Given the description of an element on the screen output the (x, y) to click on. 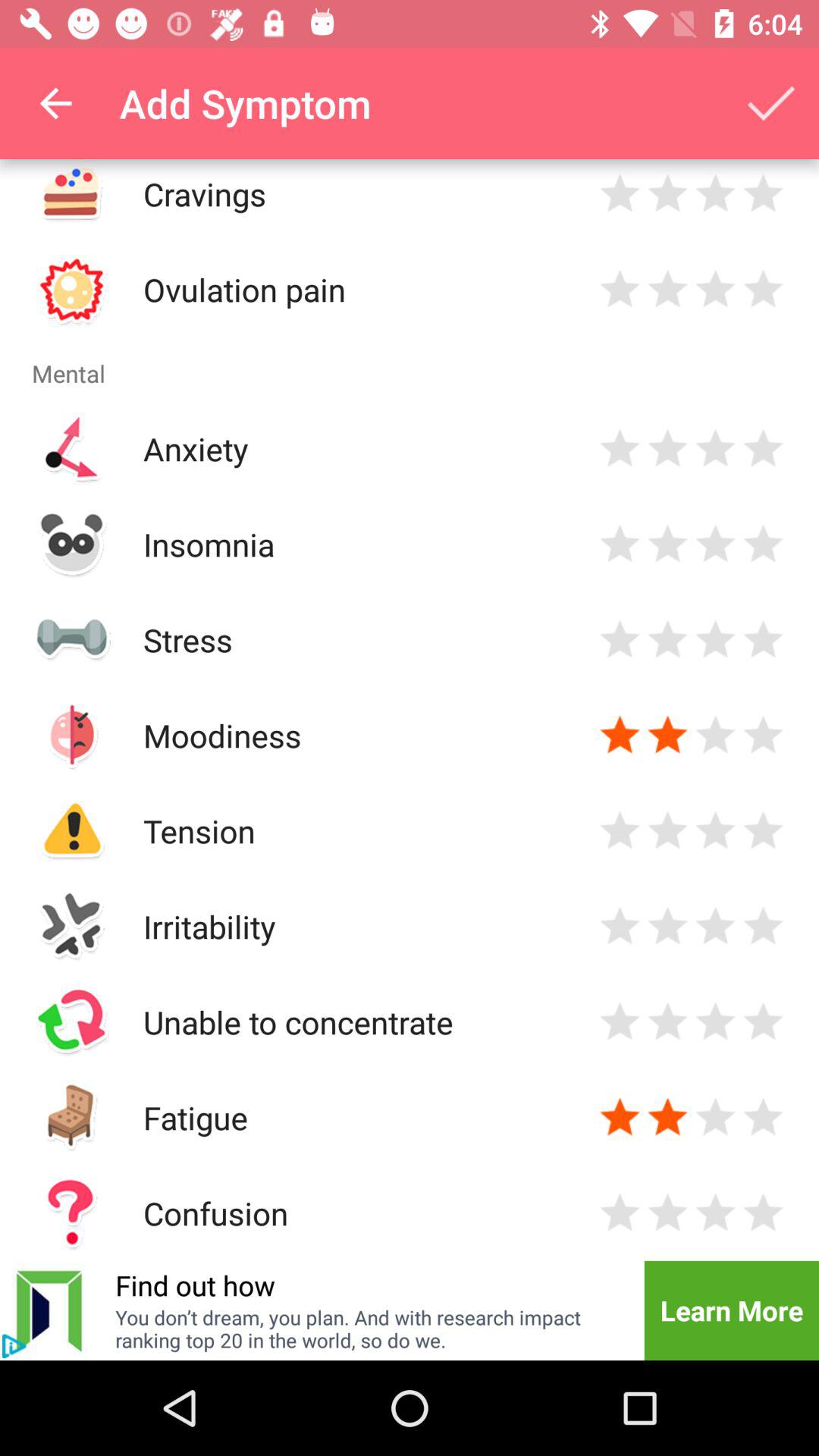
choose the icon below find out how item (369, 1329)
